Given the description of an element on the screen output the (x, y) to click on. 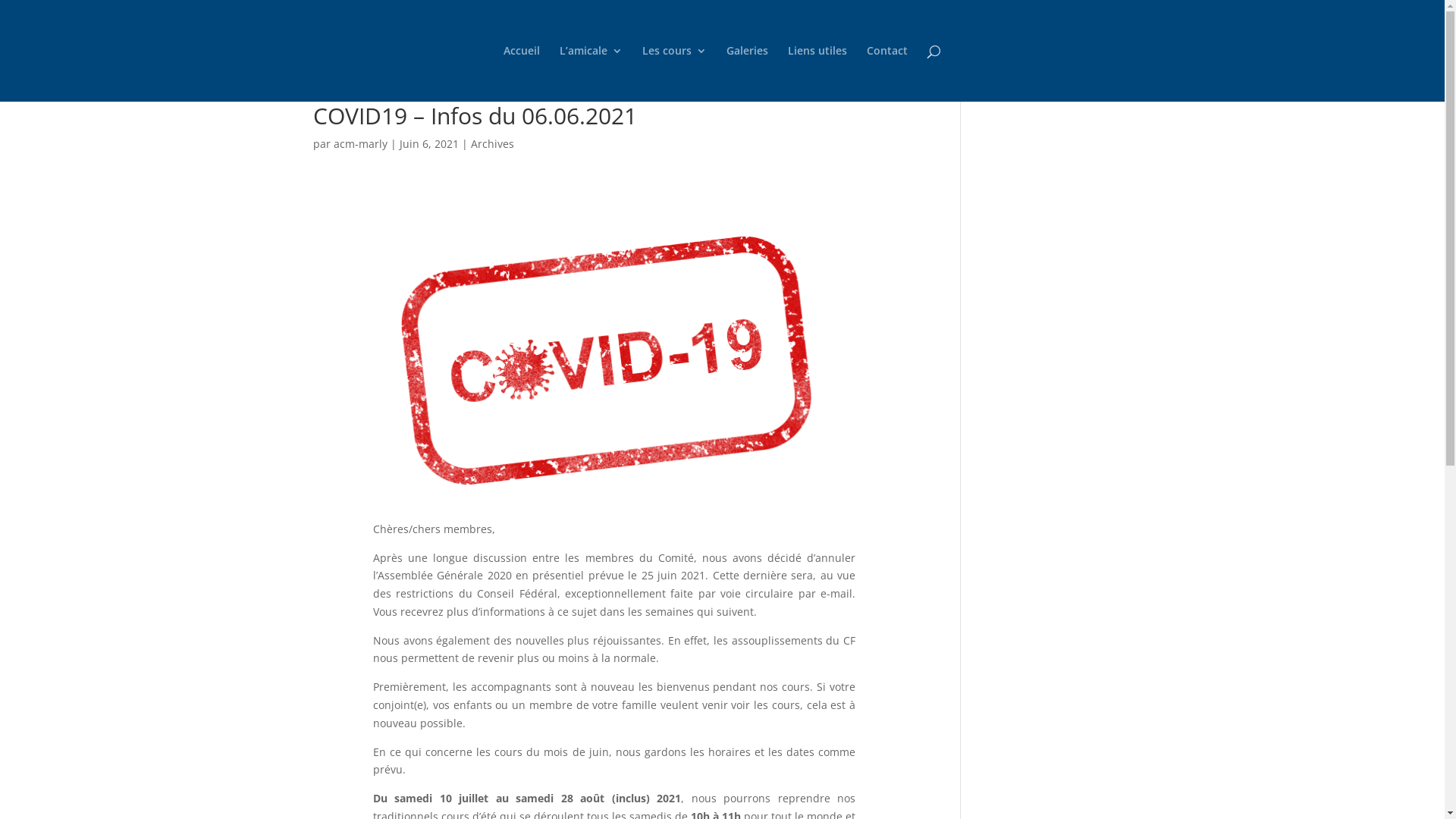
Galeries Element type: text (747, 73)
acm-marly Element type: text (360, 143)
Contact Element type: text (886, 73)
Accueil Element type: text (521, 73)
Liens utiles Element type: text (817, 73)
Archives Element type: text (491, 143)
Les cours Element type: text (674, 73)
covid-19 Element type: hover (614, 359)
